Given the description of an element on the screen output the (x, y) to click on. 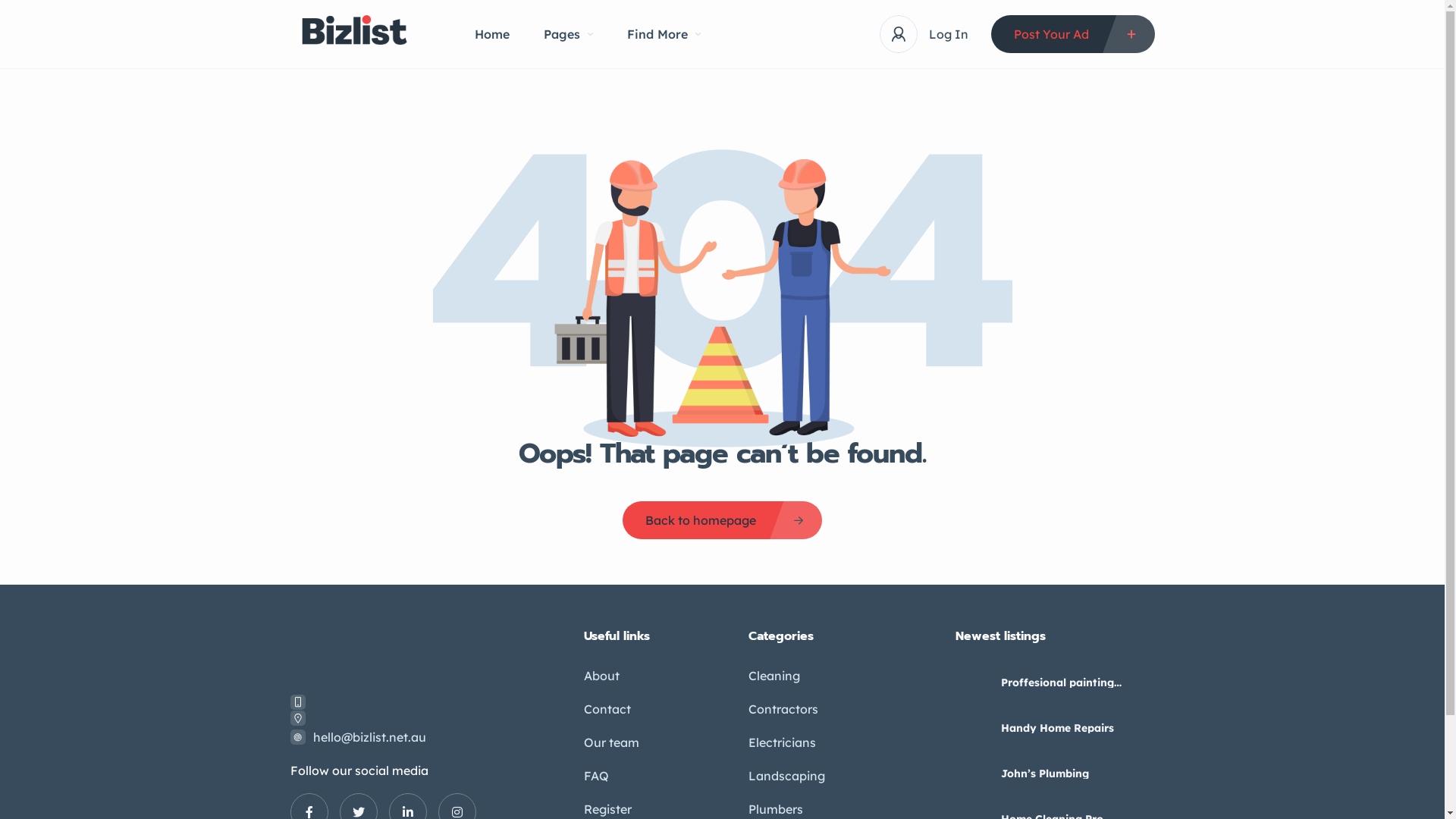
Contractors Element type: text (783, 709)
Handy Home Repairs Element type: hover (972, 727)
Proffesional painting services Element type: hover (972, 682)
Post Your Ad Element type: text (1072, 34)
Landscaping Element type: text (786, 776)
Bizlist Element type: hover (358, 34)
hello@bizlist.net.au Element type: text (368, 736)
Electricians Element type: text (781, 742)
Log In Element type: text (947, 33)
About Element type: text (601, 676)
Find More Element type: text (663, 34)
Proffesional painting services Element type: text (1077, 681)
Back to homepage Element type: text (722, 520)
Our team Element type: text (611, 742)
FAQ Element type: text (595, 776)
Handy Home Repairs Element type: text (1077, 726)
Pages Element type: text (568, 34)
Home Element type: text (491, 34)
Cleaning Element type: text (774, 676)
Contact Element type: text (606, 709)
